Given the description of an element on the screen output the (x, y) to click on. 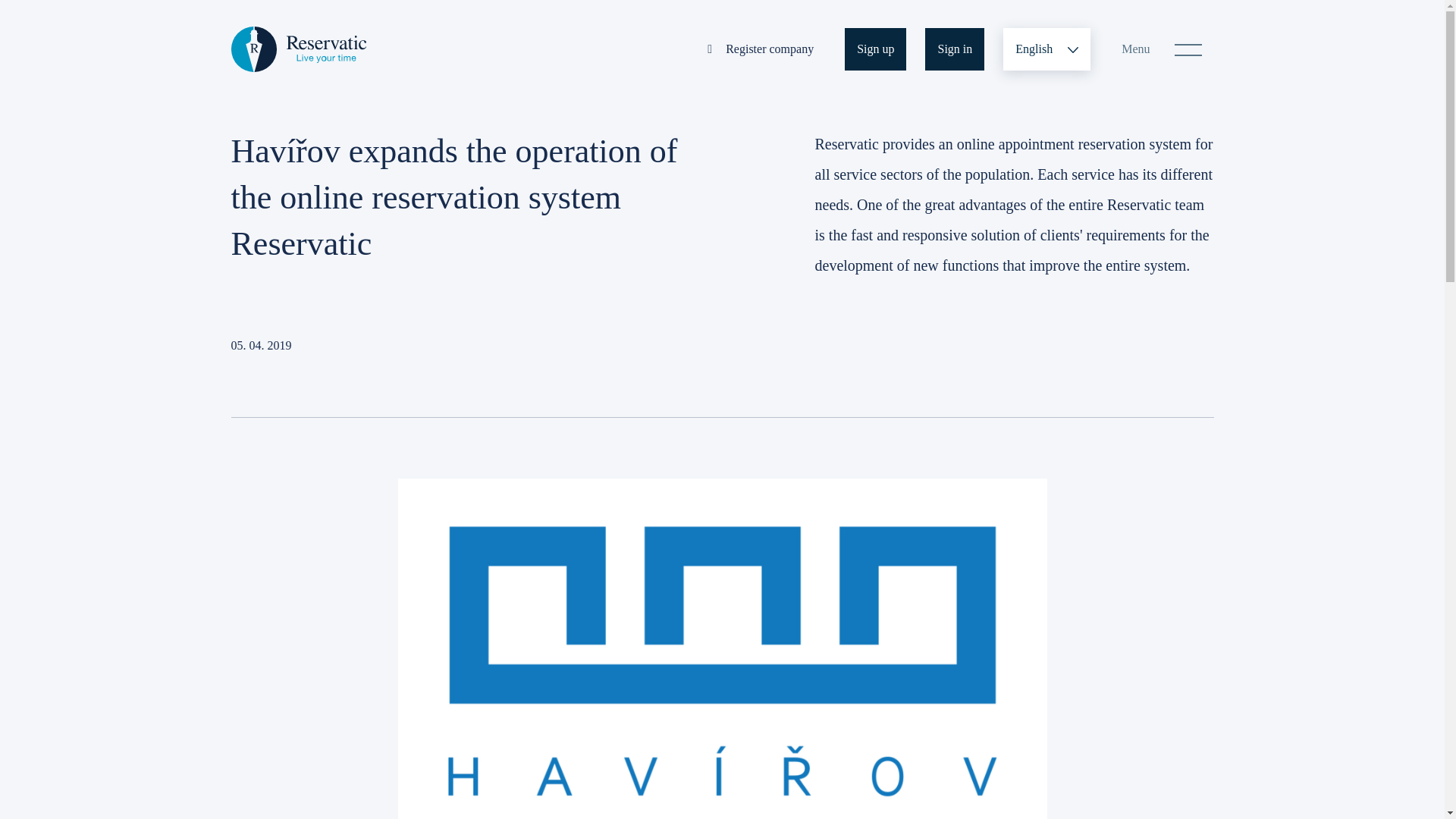
Register company (760, 47)
English (1046, 48)
Menu (1160, 48)
Sign in (954, 48)
Sign up (874, 48)
Register company (760, 47)
